Given the description of an element on the screen output the (x, y) to click on. 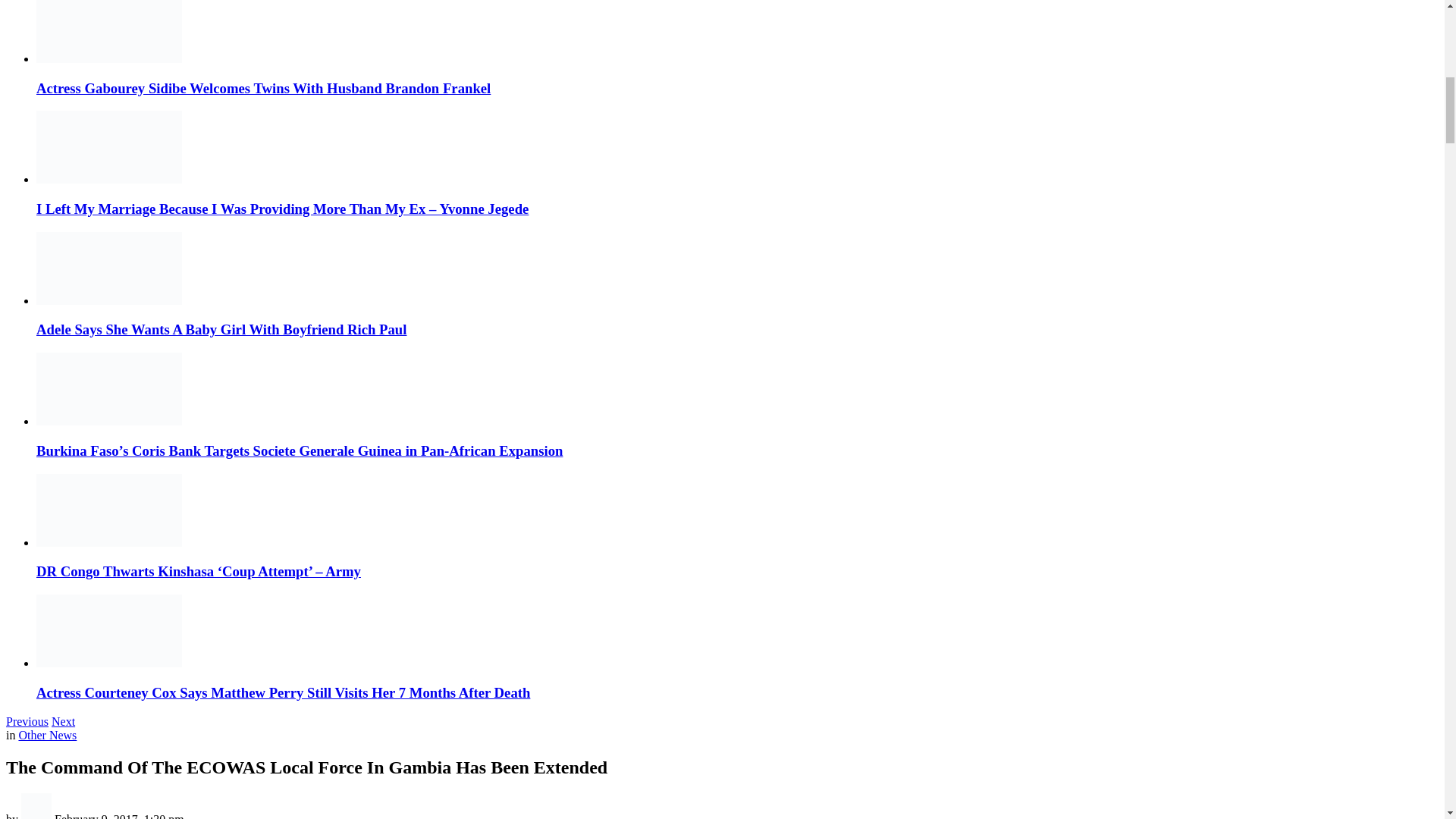
Posts by  (38, 816)
Adele Says She Wants A Baby Girl With Boyfriend Rich Paul (221, 329)
